Given the description of an element on the screen output the (x, y) to click on. 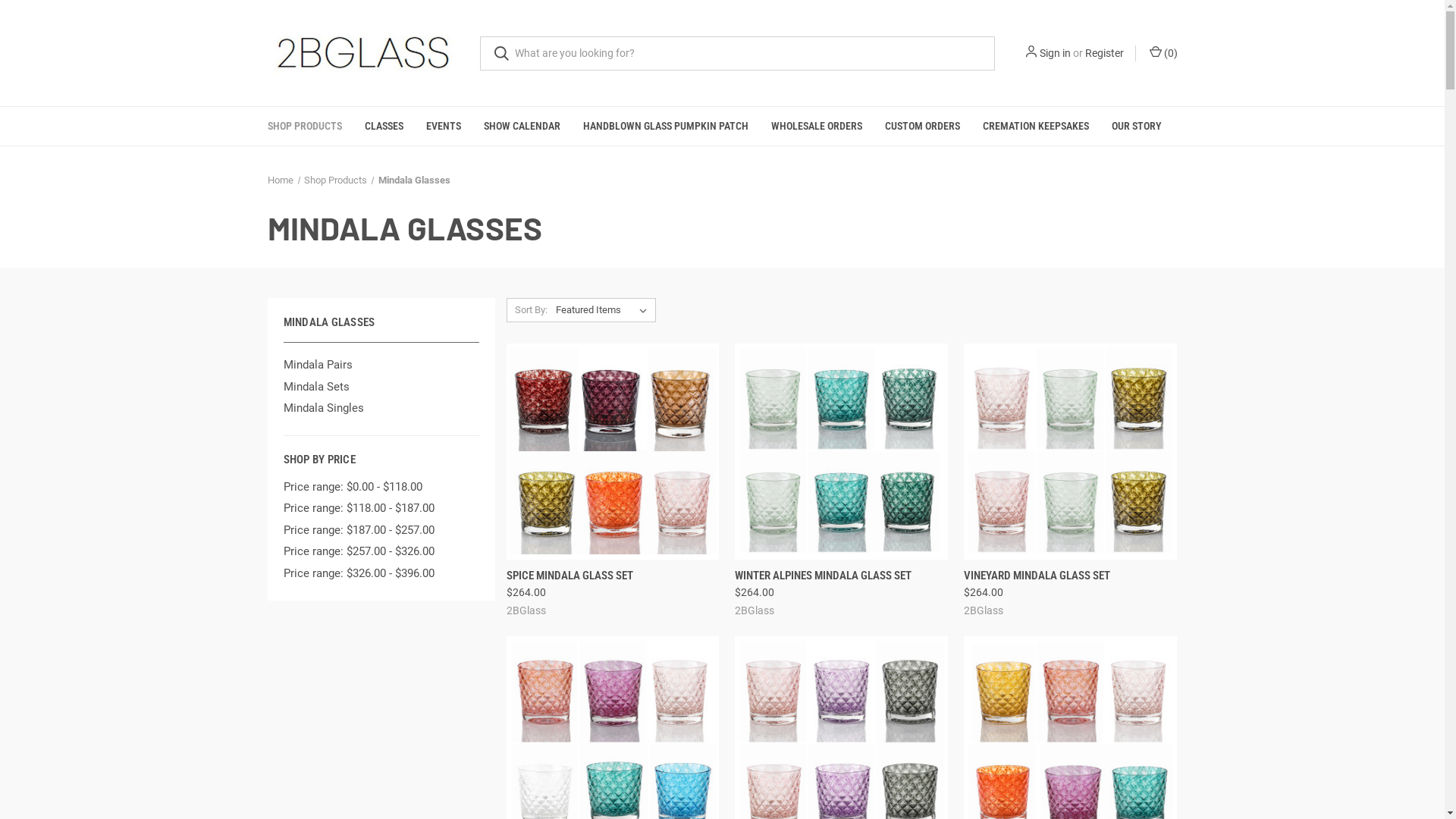
Home Element type: text (279, 179)
QUICK VIEW Element type: text (1015, 570)
Winter Alpines Mindala Glass Set Element type: hover (840, 450)
EVENTS Element type: text (442, 125)
Shop Products Element type: text (335, 179)
WHOLESALE ORDERS Element type: text (816, 125)
CUSTOM ORDERS Element type: text (922, 125)
Vineyard Mindala Glass Set Element type: hover (1069, 450)
Price range: $187.00 - $257.00 Element type: text (381, 530)
CLASSES Element type: text (383, 125)
Sign in Element type: text (1054, 53)
Mindala Glasses Element type: text (413, 179)
Price range: $118.00 - $187.00 Element type: text (381, 508)
HANDBLOWN GLASS PUMPKIN PATCH Element type: text (665, 125)
Mindala Sets Element type: text (381, 387)
VINEYARD MINDALA GLASS SET Element type: text (1036, 575)
QUICK VIEW Element type: text (557, 570)
Mindala Singles Element type: text (381, 408)
Mindala Pairs Element type: text (381, 365)
Price range: $257.00 - $326.00 Element type: text (381, 551)
SPICE MINDALA GLASS SET Element type: text (569, 575)
OUR STORY Element type: text (1135, 125)
(0) Element type: text (1161, 53)
CREMATION KEEPSAKES Element type: text (1034, 125)
SHOP PRODUCTS Element type: text (304, 125)
Two Brothers Glass Element type: hover (361, 52)
Price range: $0.00 - $118.00 Element type: text (381, 487)
Register Element type: text (1103, 53)
QUICK VIEW Element type: text (786, 570)
SHOW CALENDAR Element type: text (521, 125)
WINTER ALPINES MINDALA GLASS SET Element type: text (822, 575)
Price range: $326.00 - $396.00 Element type: text (381, 573)
Spice Mindala Glass Set Element type: hover (612, 450)
